Given the description of an element on the screen output the (x, y) to click on. 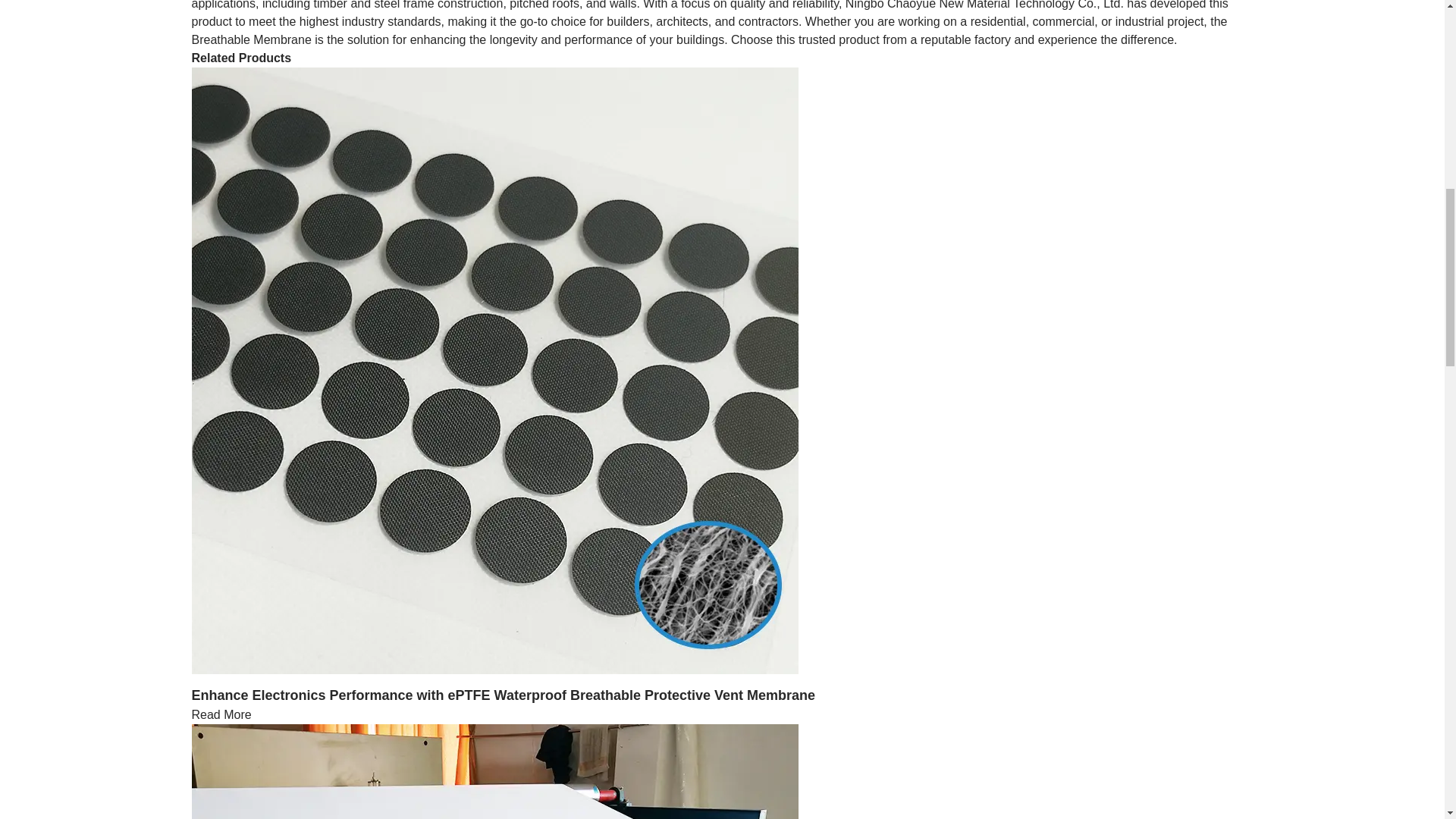
Read More (220, 714)
